Given the description of an element on the screen output the (x, y) to click on. 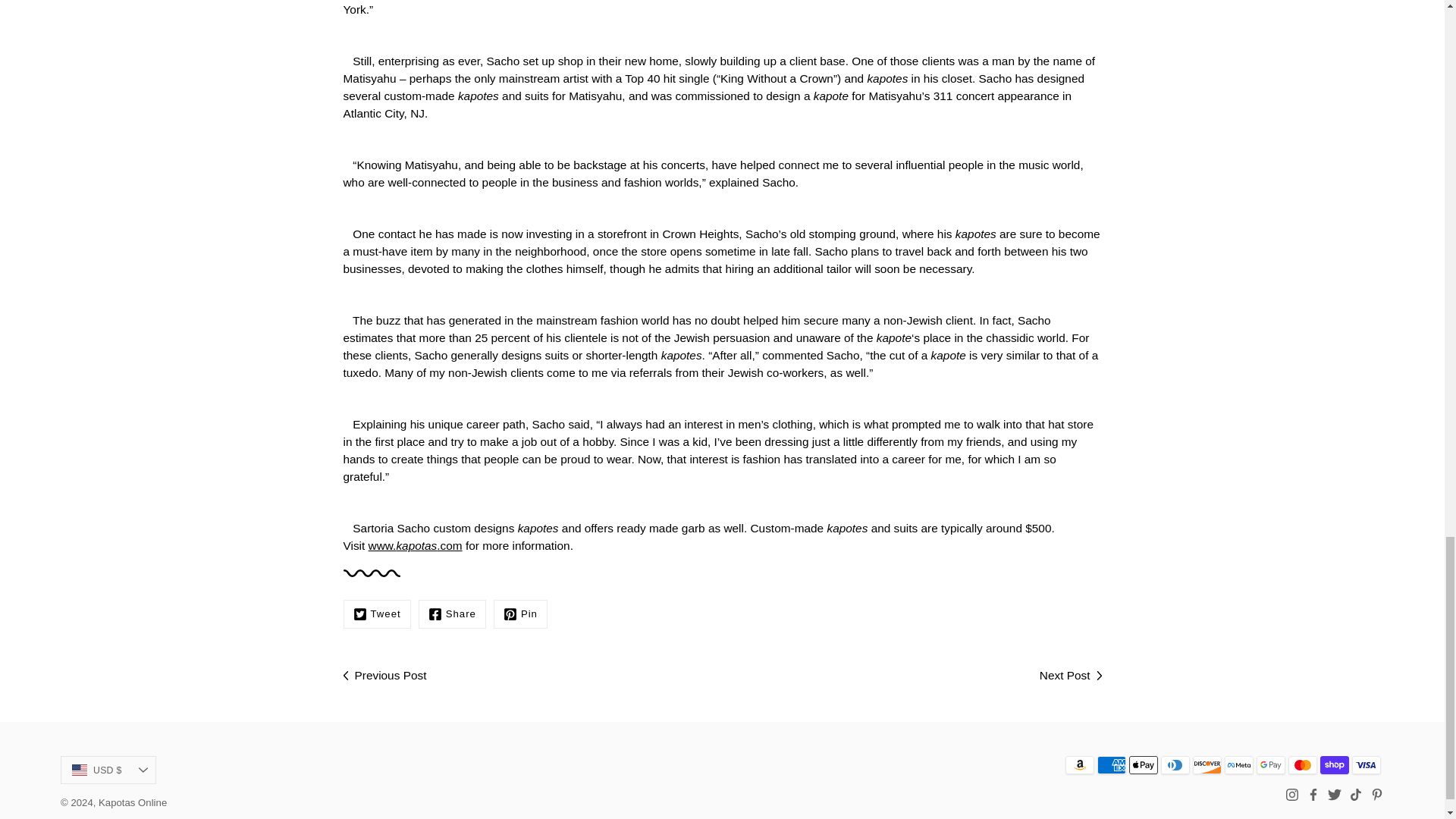
Apple Pay (1143, 764)
Google Pay (1270, 764)
Discover (1206, 764)
Twitter (376, 613)
Amazon (1079, 764)
Facebook (452, 613)
Visa (1366, 764)
American Express (1111, 764)
Shop Pay (1334, 764)
Meta Pay (1238, 764)
